Given the description of an element on the screen output the (x, y) to click on. 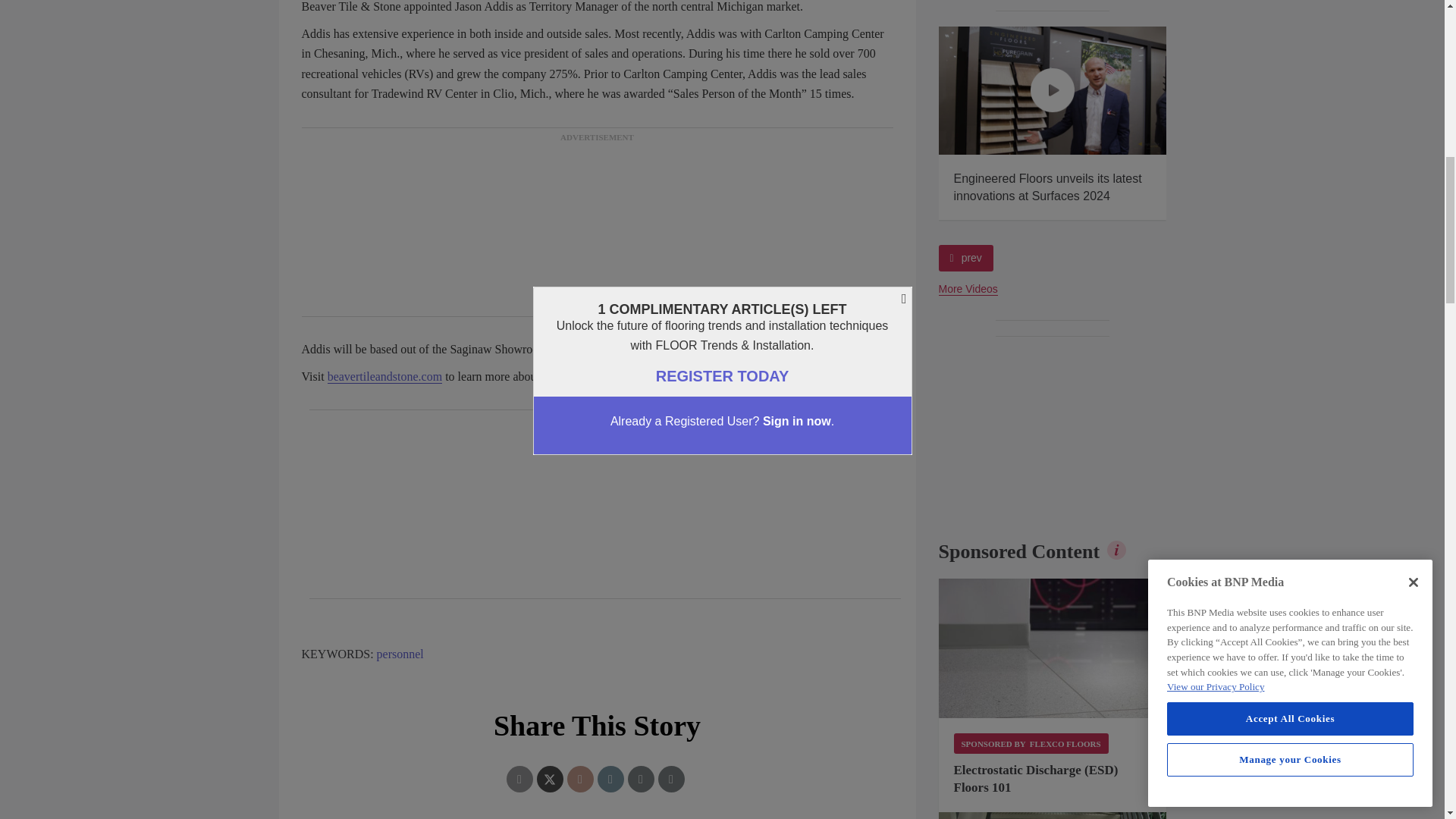
stair treads (1052, 815)
CALI Offers Wine Country Tour with Taste of 2024 Collections (825, 90)
Sponsored by Flexco Floors (1030, 743)
ESD flooring (1052, 648)
